Given the description of an element on the screen output the (x, y) to click on. 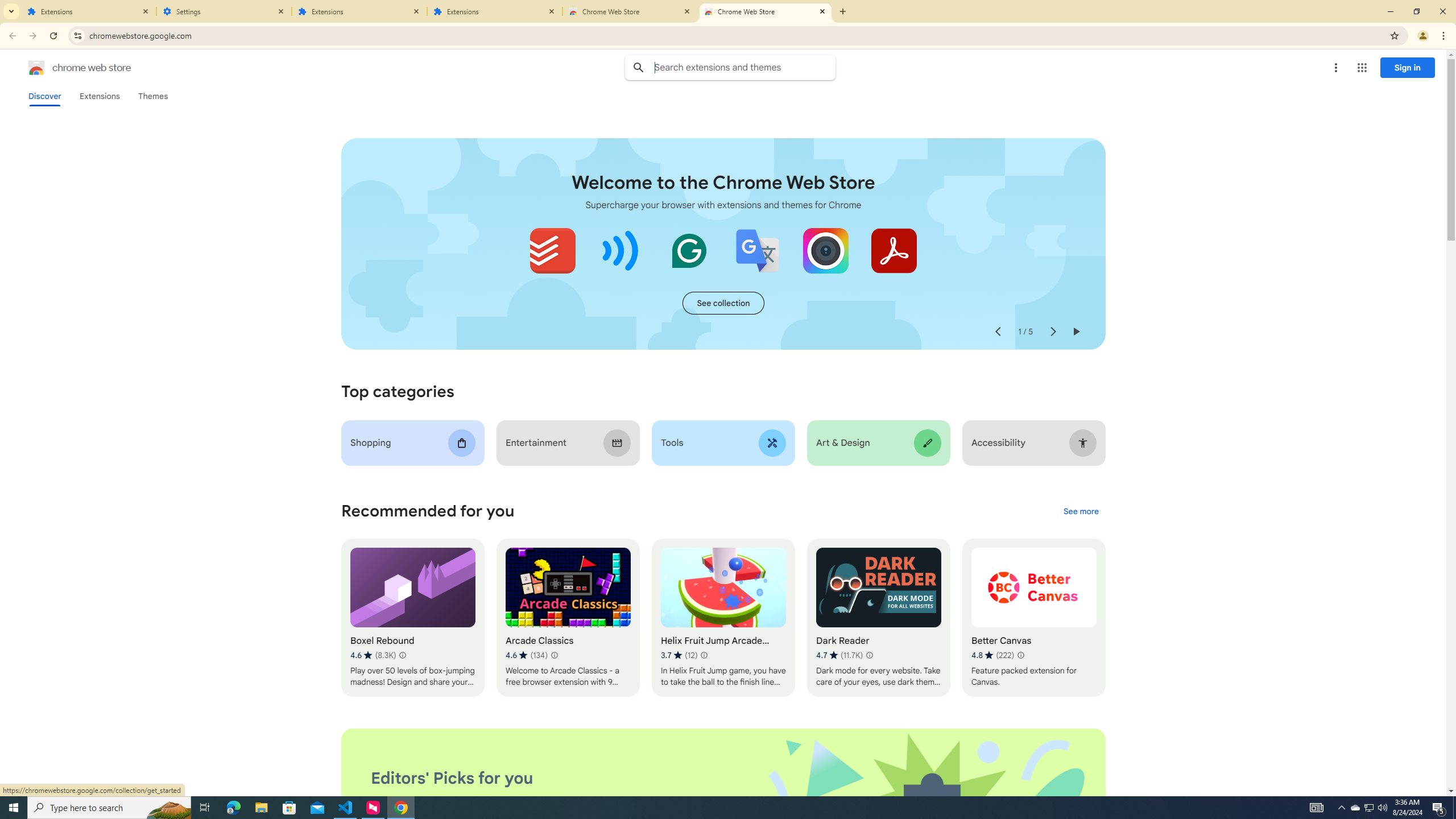
Average rating 4.6 out of 5 stars. 8.3K ratings. (372, 655)
Dark Reader (878, 617)
